Given the description of an element on the screen output the (x, y) to click on. 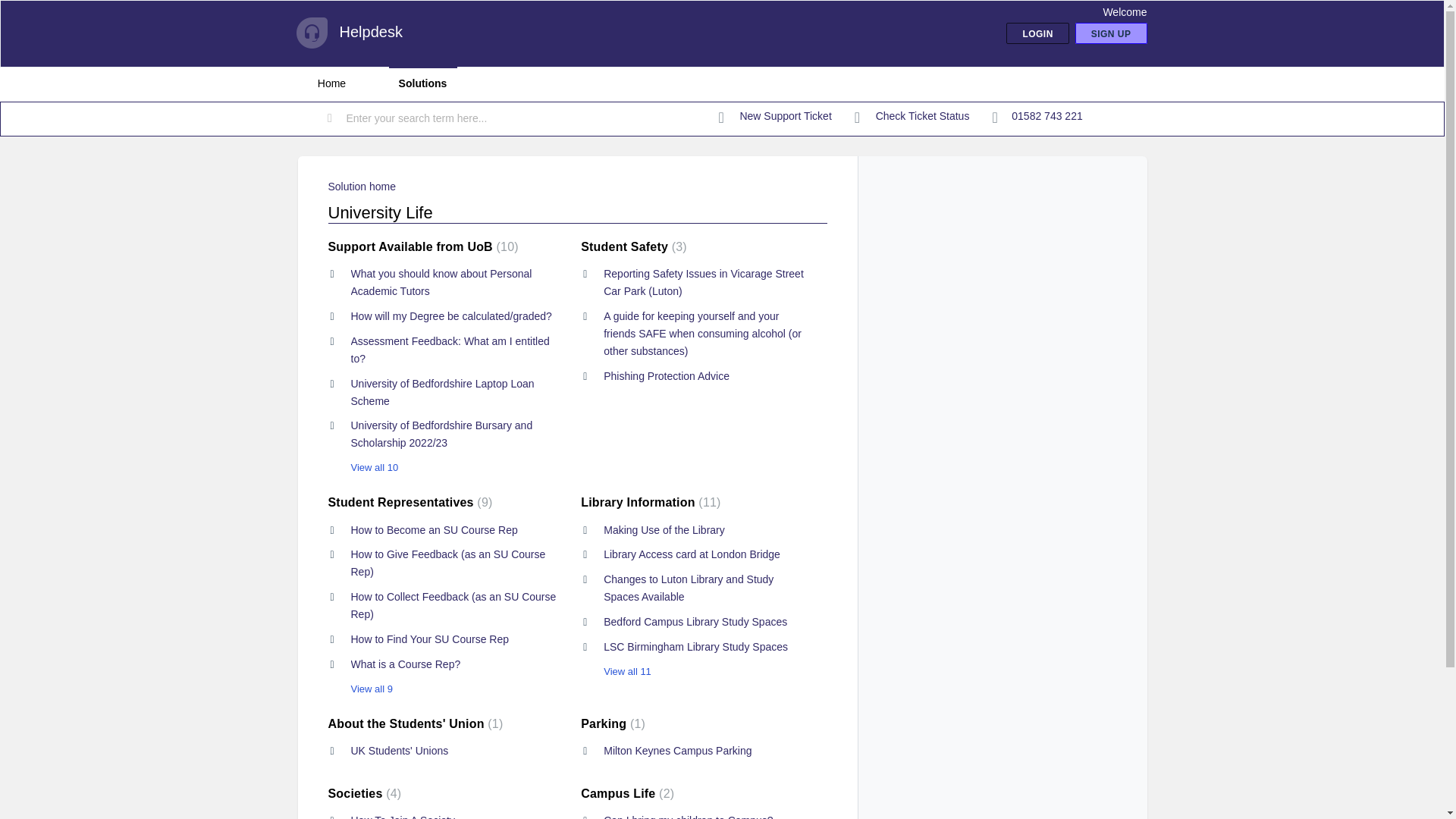
Changes to Luton Library and Study Spaces Available (688, 587)
Library Information 11 (650, 502)
Student Representatives (409, 502)
Check Ticket Status (911, 116)
Milton Keynes Campus Parking (677, 750)
Making Use of the Library (664, 529)
Assessment Feedback: What am I entitled to? (449, 349)
View all 10 (362, 467)
Solutions (422, 83)
Check ticket status (911, 116)
LSC Birmingham Library Study Spaces (695, 646)
New support ticket (775, 116)
Library Access card at London Bridge (692, 553)
Bedford Campus Library Study Spaces (695, 621)
View all 11 (615, 671)
